Given the description of an element on the screen output the (x, y) to click on. 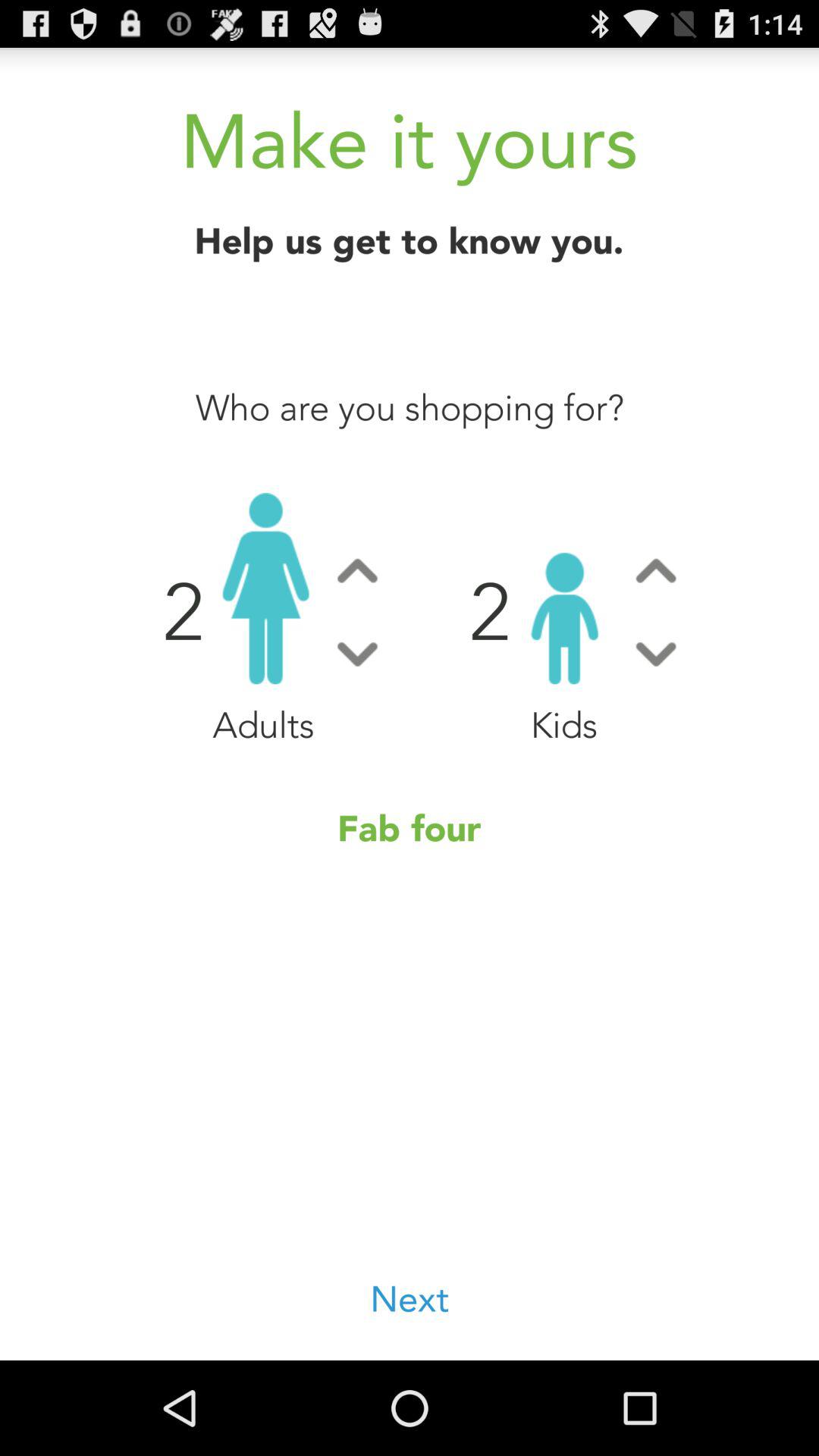
switch autoplay option (357, 570)
